Given the description of an element on the screen output the (x, y) to click on. 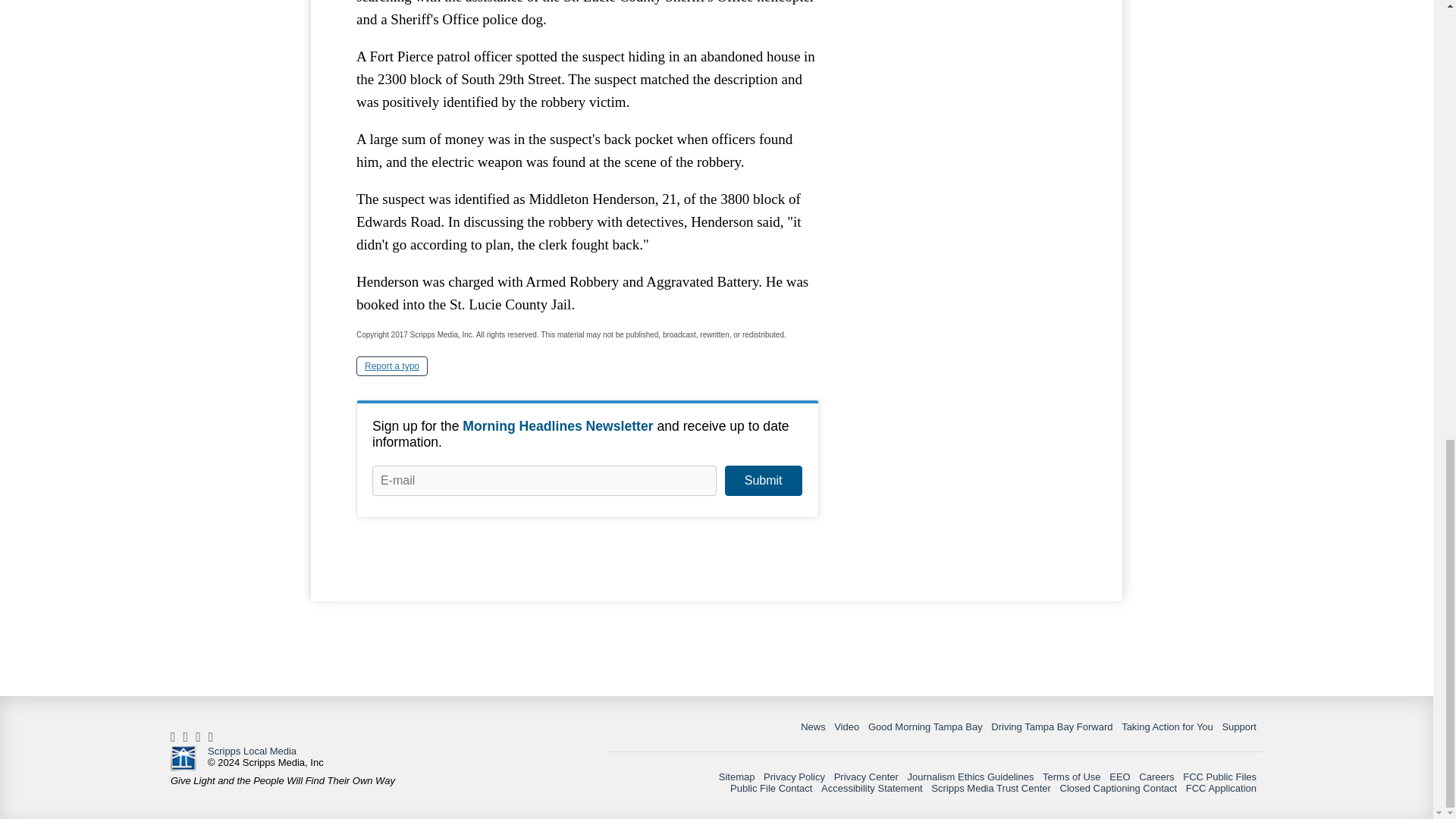
Submit (763, 481)
